Given the description of an element on the screen output the (x, y) to click on. 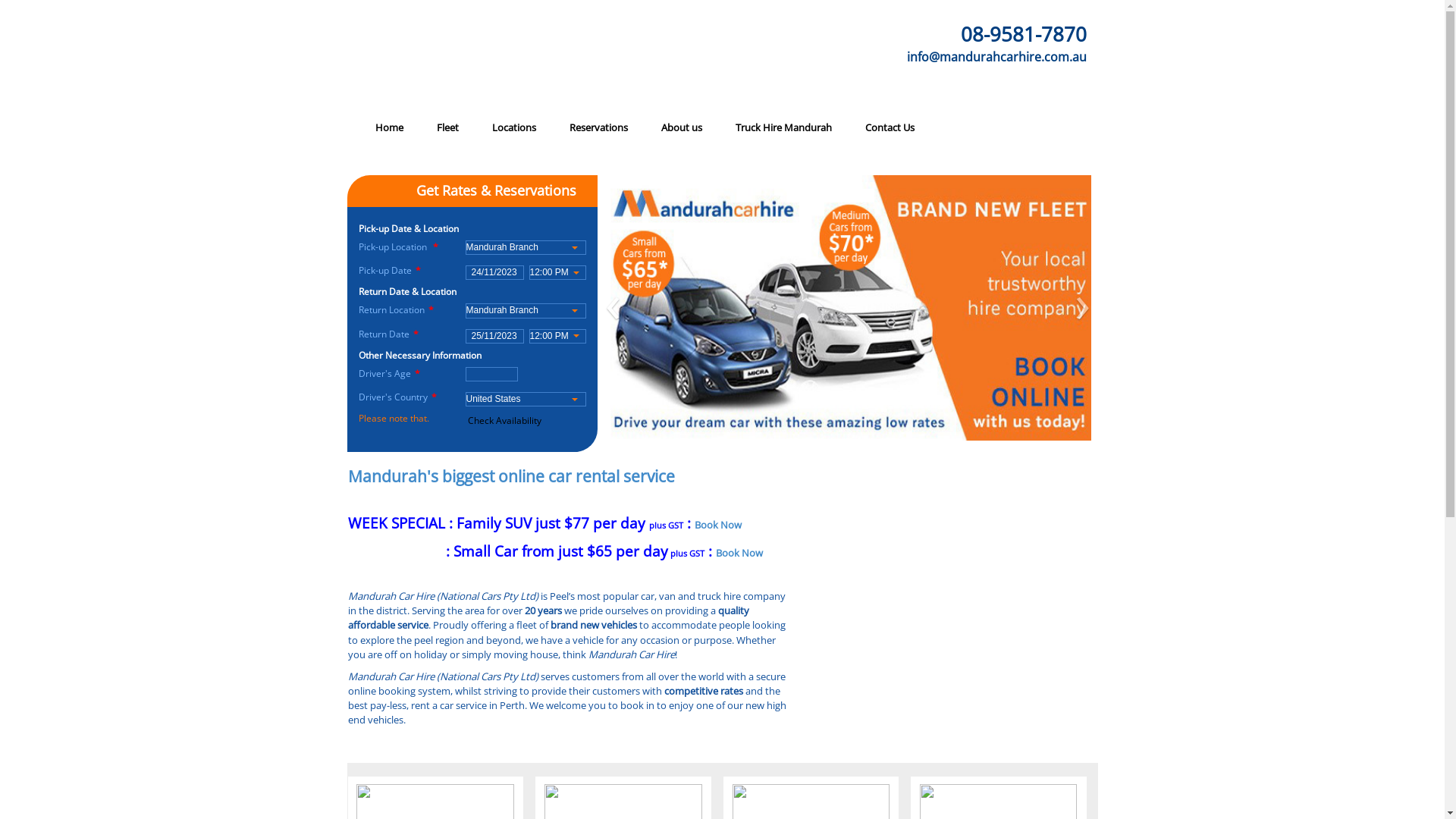
Mandurah Branch  Element type: text (524, 310)
United States  Element type: text (524, 398)
Book Now Element type: text (738, 552)
info@mandurahcarhire.com.au Element type: text (947, 42)
Locations Element type: text (513, 127)
Contact Us Element type: text (888, 127)
Mandurah's biggest online car rental service Element type: text (510, 475)
Reservations Element type: text (597, 127)
Home Element type: text (388, 127)
Book Now Element type: text (717, 524)
12:00 PM  Element type: text (556, 272)
Check Availability Element type: text (504, 420)
Check Availability Element type: text (504, 420)
Truck Hire Mandurah Element type: text (783, 127)
Fleet Element type: text (447, 127)
Mandurah Branch  Element type: text (524, 247)
About us Element type: text (681, 127)
12:00 PM  Element type: text (556, 335)
